Given the description of an element on the screen output the (x, y) to click on. 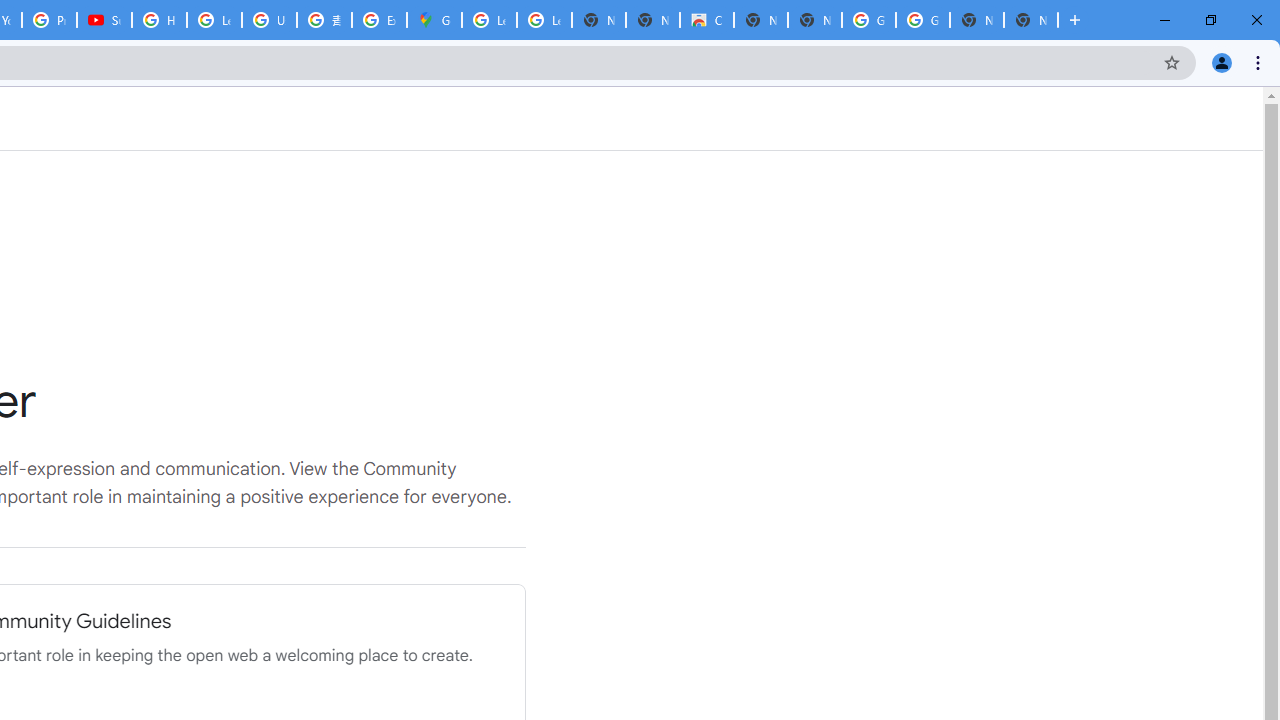
Google Images (868, 20)
How Chrome protects your passwords - Google Chrome Help (158, 20)
Google Images (922, 20)
Google Maps (434, 20)
